Given the description of an element on the screen output the (x, y) to click on. 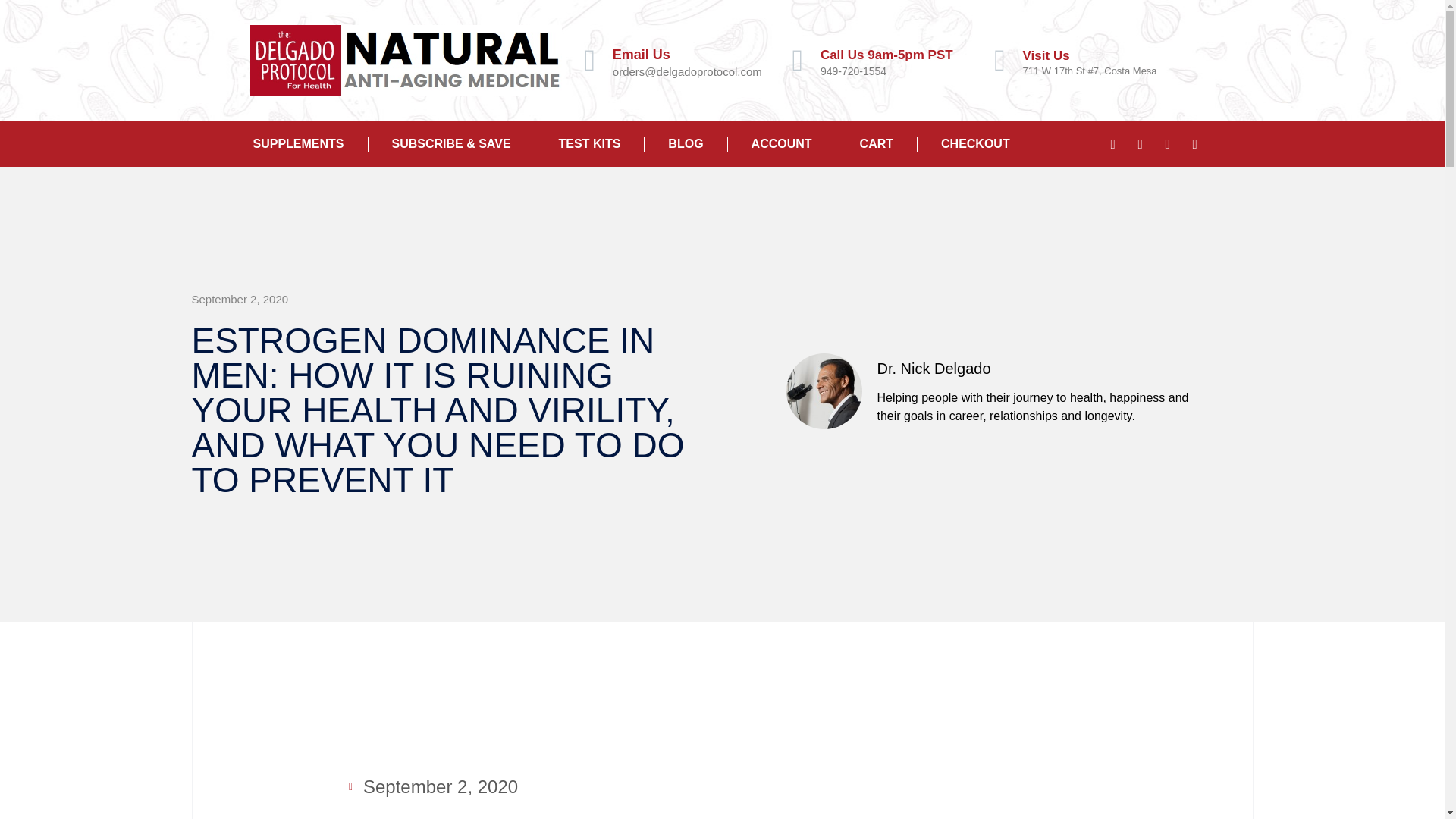
TEST KITS (590, 143)
September 2, 2020 (239, 299)
BLOG (685, 143)
ACCOUNT (781, 143)
CART (876, 143)
September 2, 2020 (433, 786)
CHECKOUT (975, 143)
SUPPLEMENTS (297, 143)
